Given the description of an element on the screen output the (x, y) to click on. 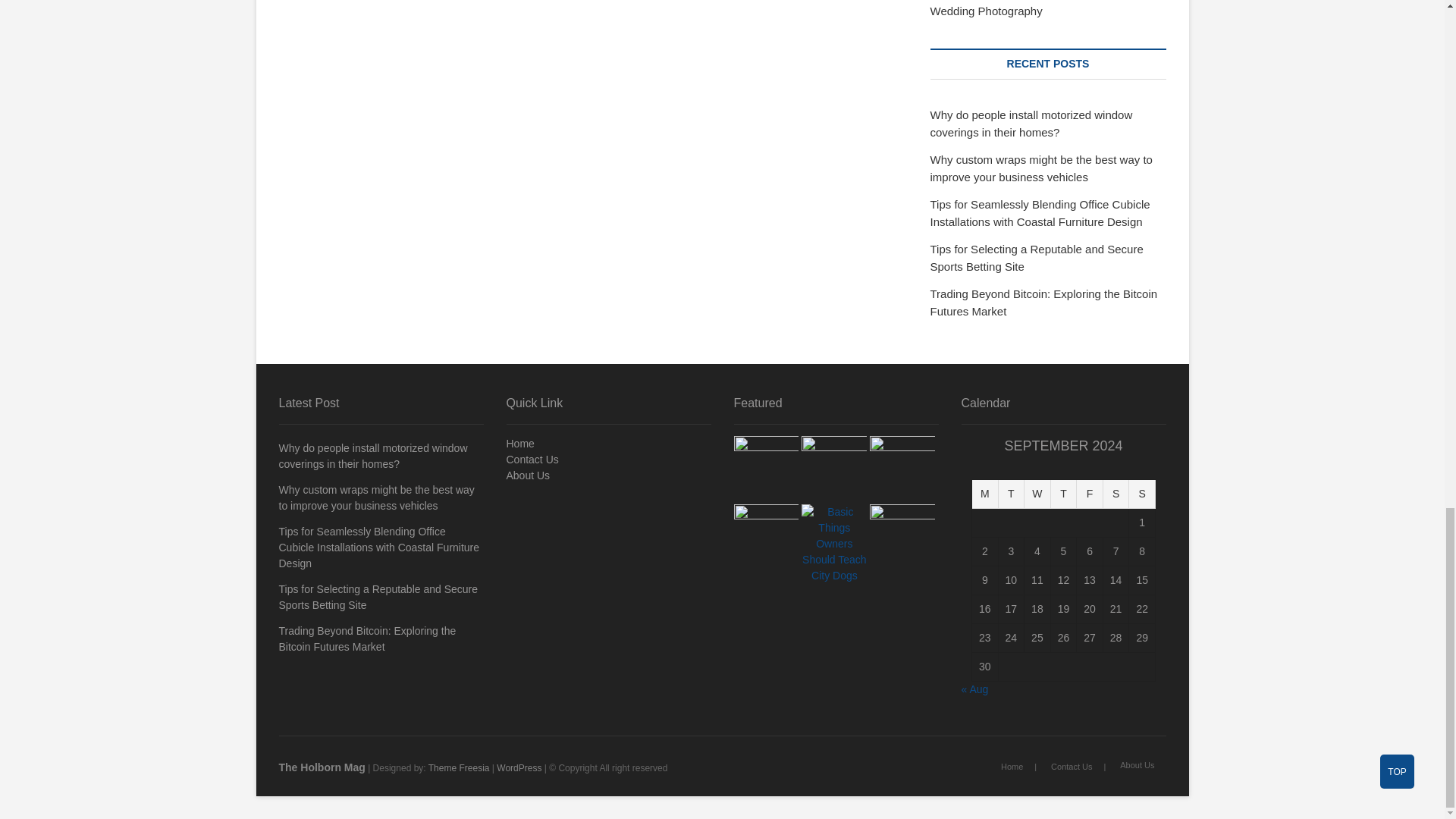
Tuesday (1011, 493)
Friday (1090, 493)
Theme Freesia (458, 767)
Sunday (1142, 493)
Monday (985, 493)
The Holborn Mag (322, 767)
WordPress (518, 767)
Wednesday (1038, 493)
Thursday (1064, 493)
Saturday (1116, 493)
